Given the description of an element on the screen output the (x, y) to click on. 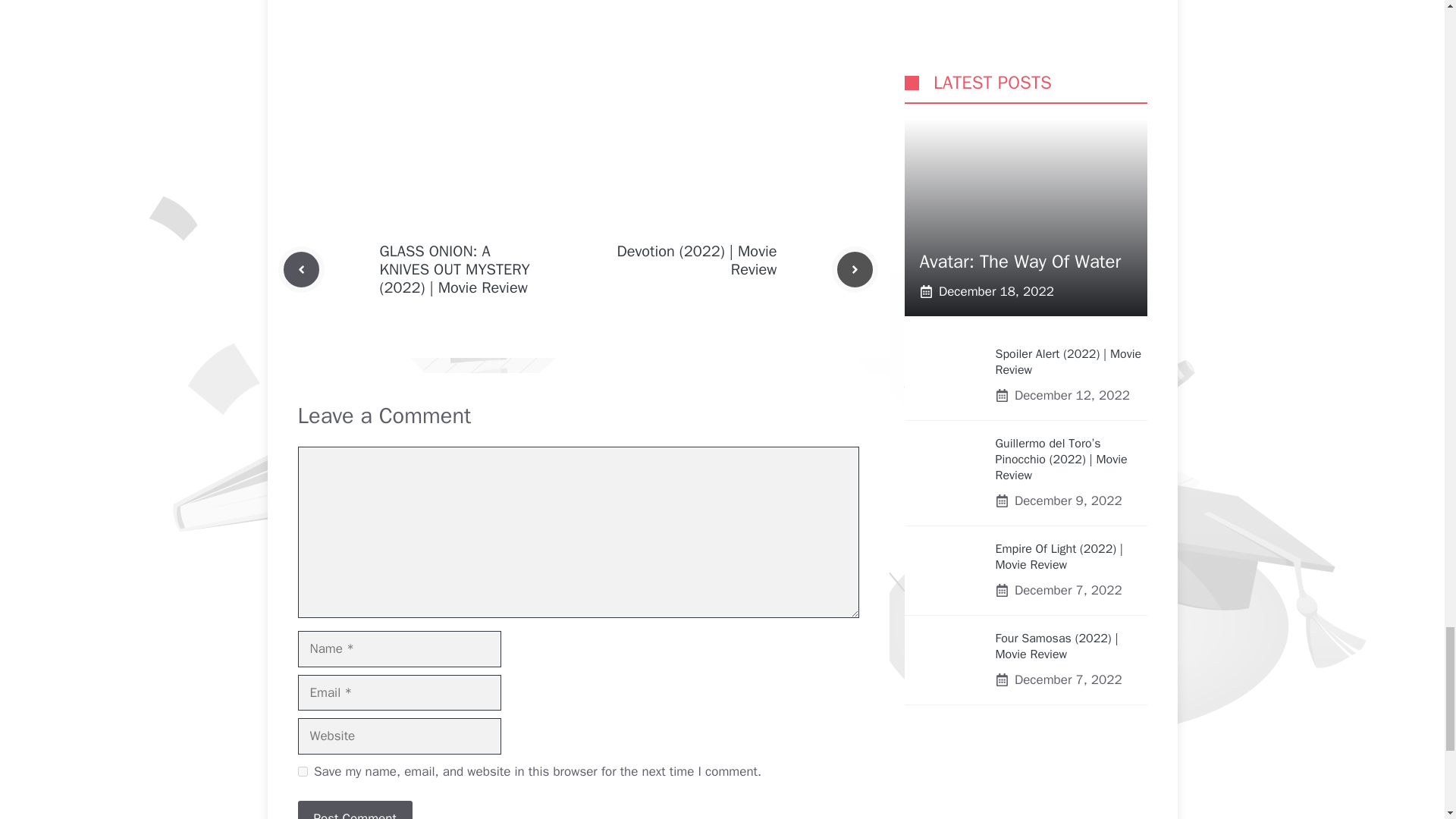
Post Comment (354, 809)
Violent Night - Official Trailer (578, 68)
yes (302, 771)
Post Comment (354, 809)
